Given the description of an element on the screen output the (x, y) to click on. 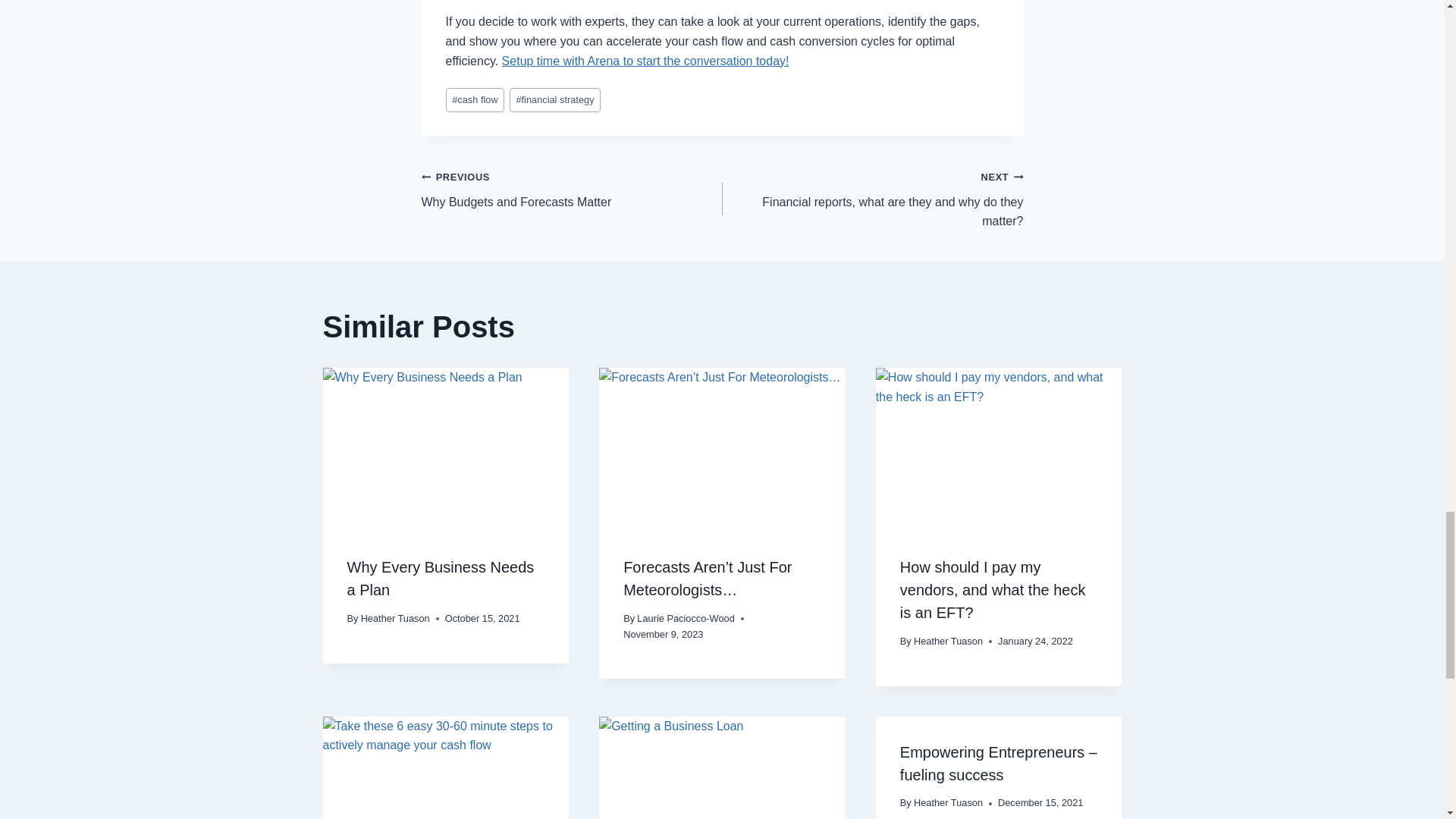
Laurie Paciocco-Wood (686, 618)
cash flow (475, 100)
How should I pay my vendors, and what the heck is an EFT? (992, 589)
Why Every Business Needs a Plan (440, 578)
Heather Tuason (395, 618)
Heather Tuason (948, 641)
financial strategy (555, 100)
Setup time with Arena to start the conversation today! (572, 189)
